Given the description of an element on the screen output the (x, y) to click on. 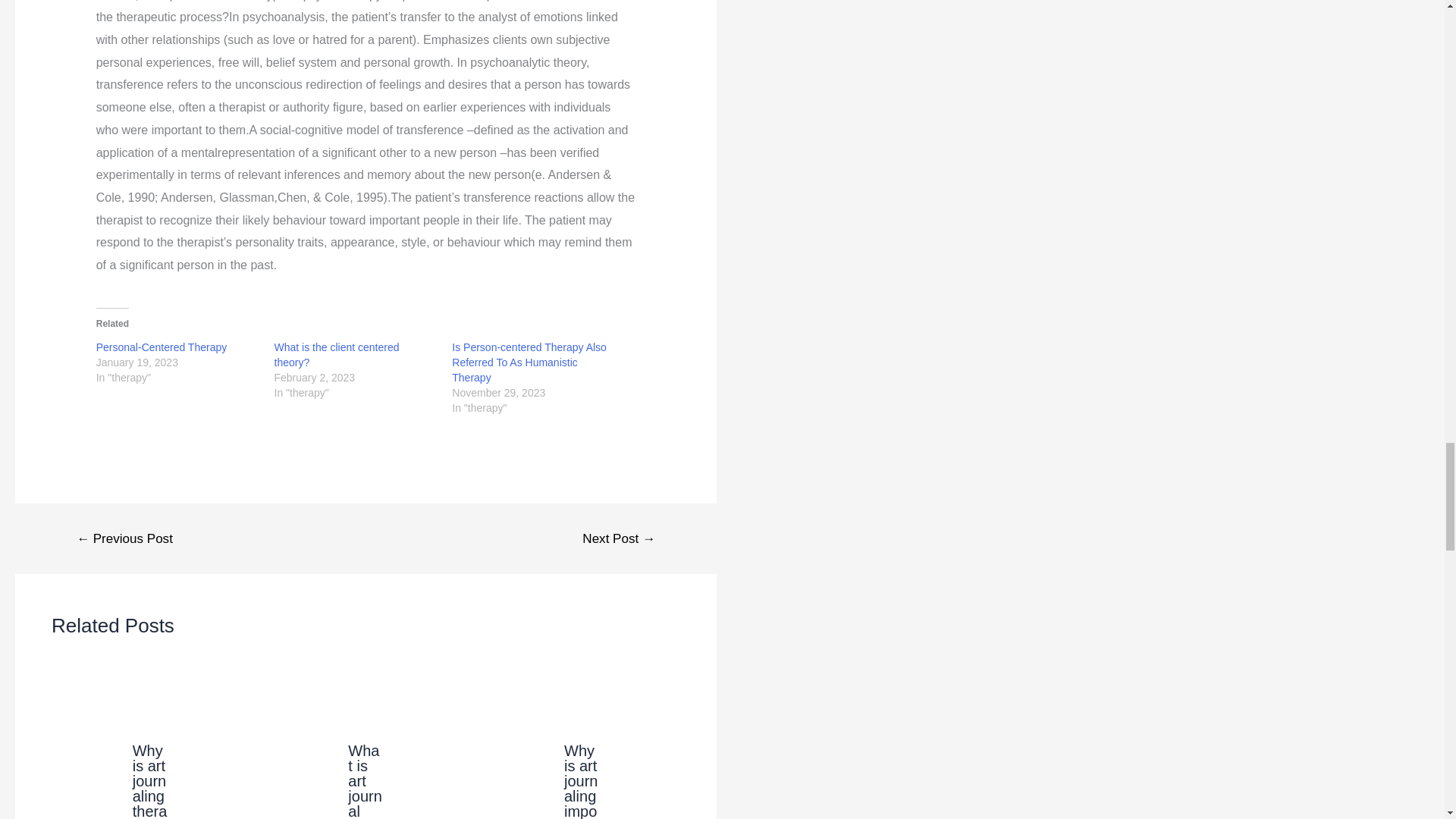
Personal-Centered Therapy (161, 346)
What is the client centered theory? (336, 354)
Personal-Centered Therapy (161, 346)
What is the client centered theory? (336, 354)
